Given the description of an element on the screen output the (x, y) to click on. 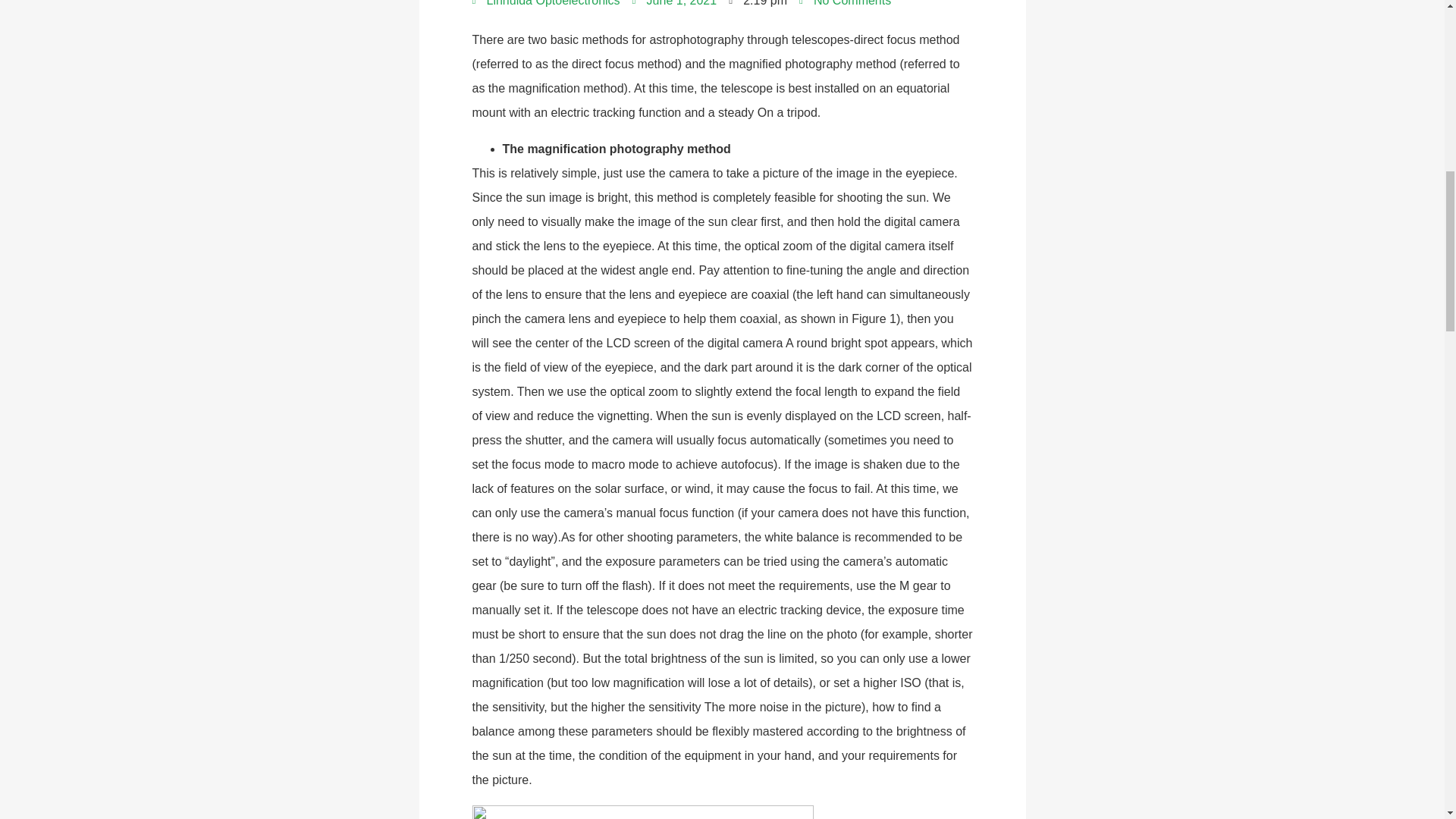
No Comments (845, 6)
June 1, 2021 (674, 6)
Linhuida Optoelectronics (545, 6)
